Given the description of an element on the screen output the (x, y) to click on. 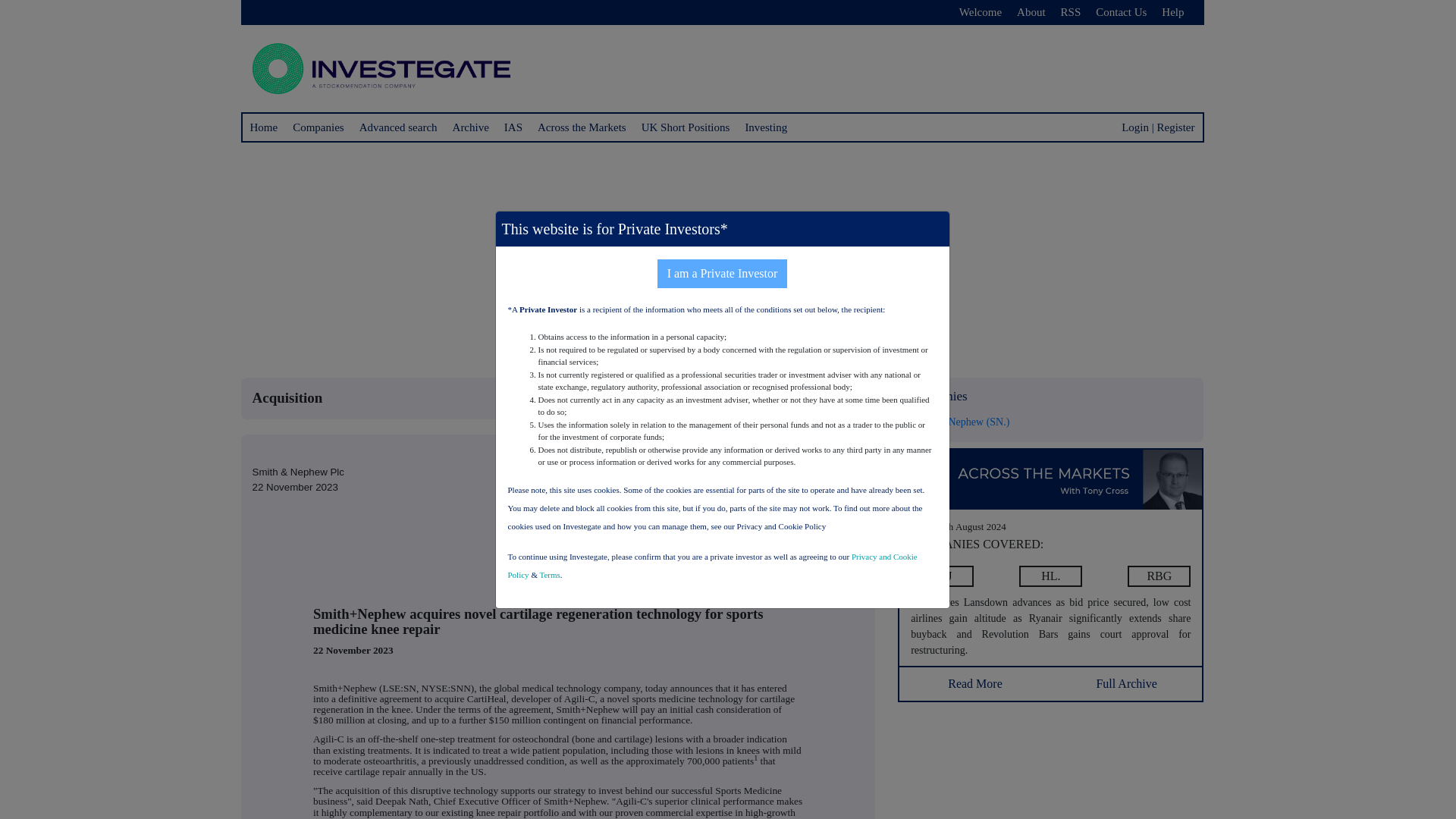
About (1030, 12)
3rd party ad content (1050, 768)
RSS (1070, 12)
Help (1172, 12)
IAS (512, 127)
Read the full Article HERE (942, 576)
Investing (765, 127)
Welcome (980, 12)
Advanced search (398, 127)
